Given the description of an element on the screen output the (x, y) to click on. 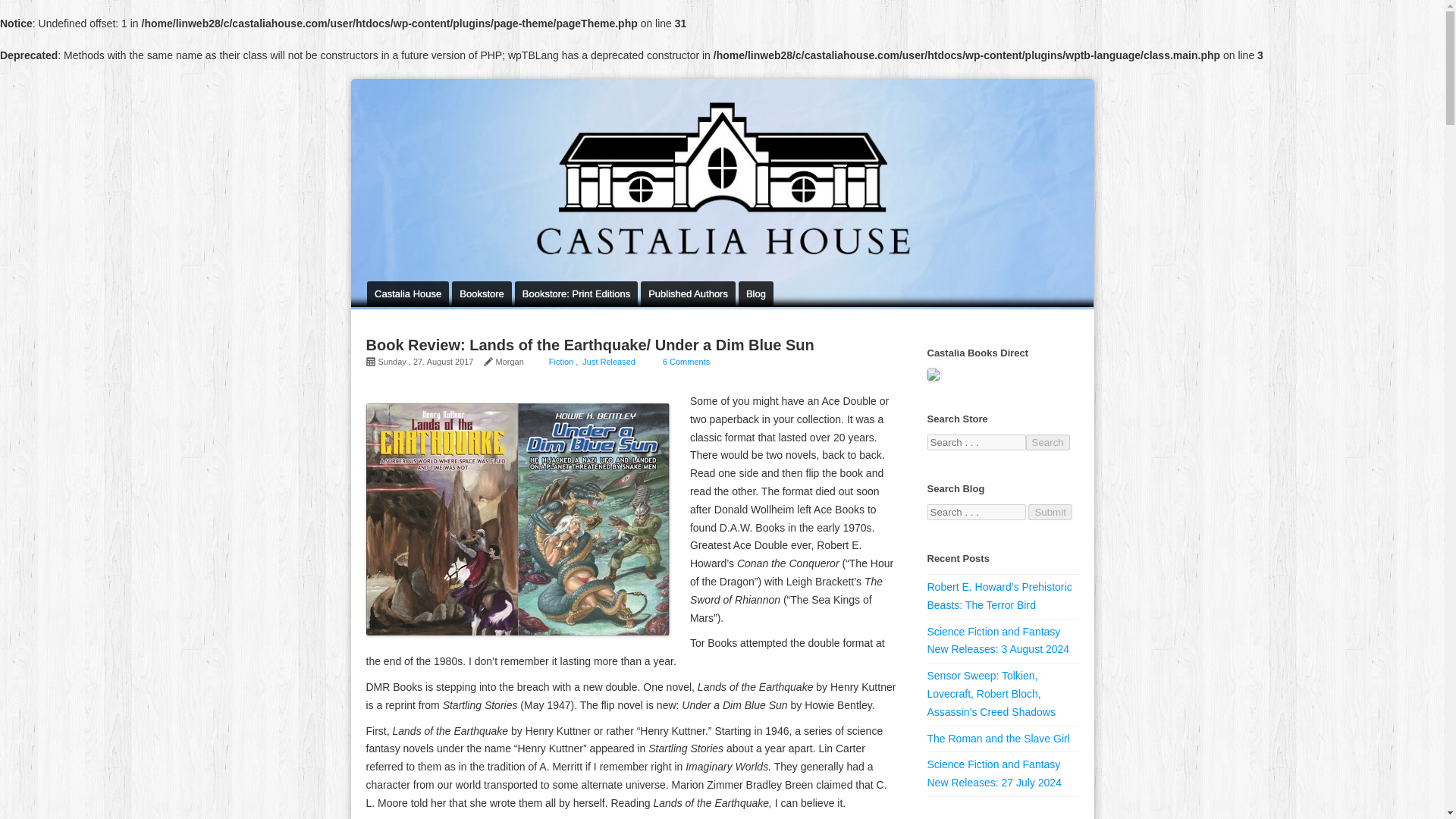
Search (1046, 442)
Submit (1049, 512)
Search (1046, 442)
Search (1046, 442)
Just Released (608, 361)
Blog (755, 294)
Bookstore (481, 294)
6 Comments (686, 361)
Castalia House (407, 294)
Fiction (561, 361)
Submit (1049, 512)
Bookstore: Print Editions (576, 294)
Published Authors (687, 294)
